Given the description of an element on the screen output the (x, y) to click on. 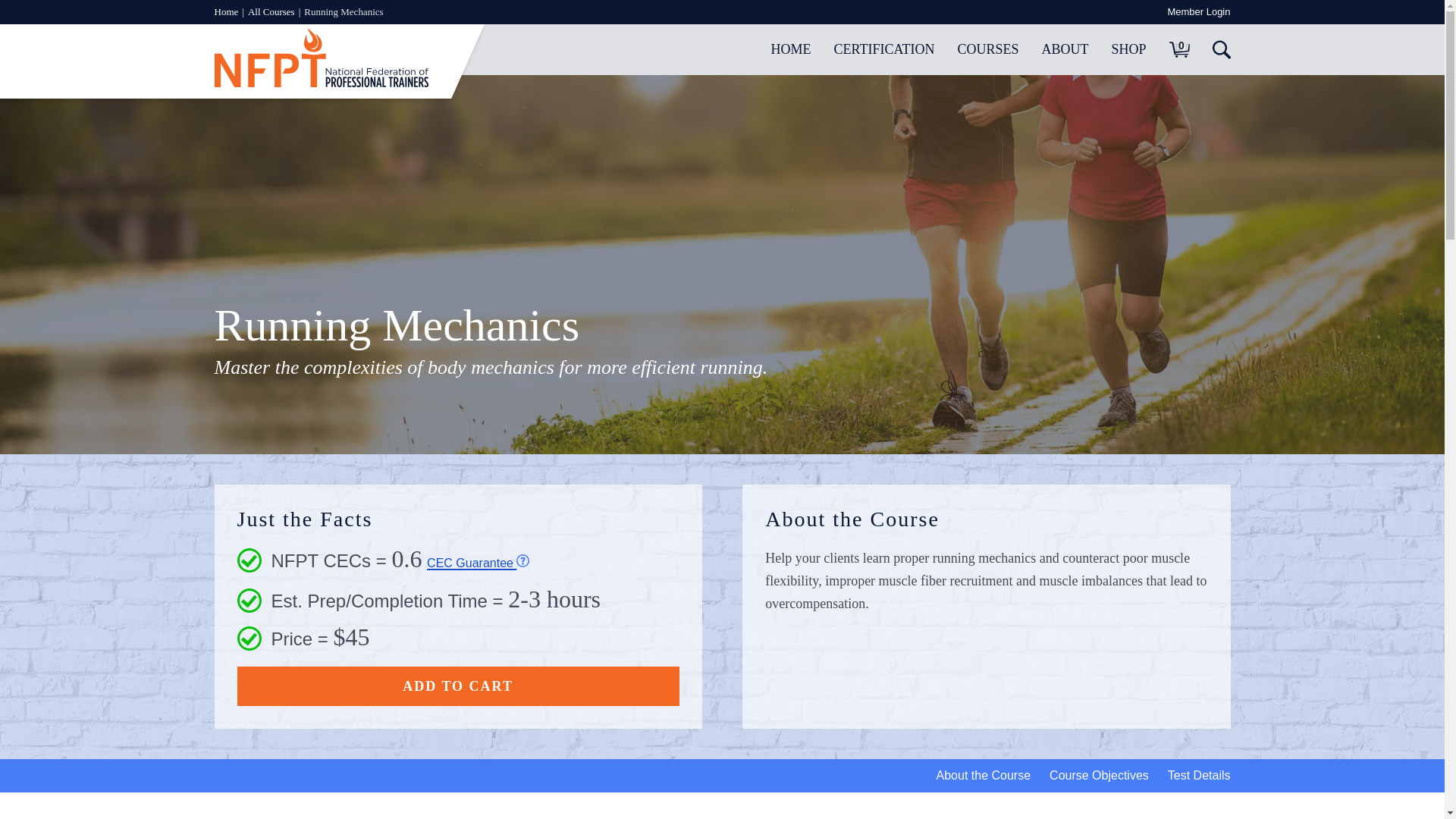
Running Mechanics 1 (522, 560)
Account Login (1198, 11)
NFPT home (321, 82)
View your shopping cart (1179, 49)
